Given the description of an element on the screen output the (x, y) to click on. 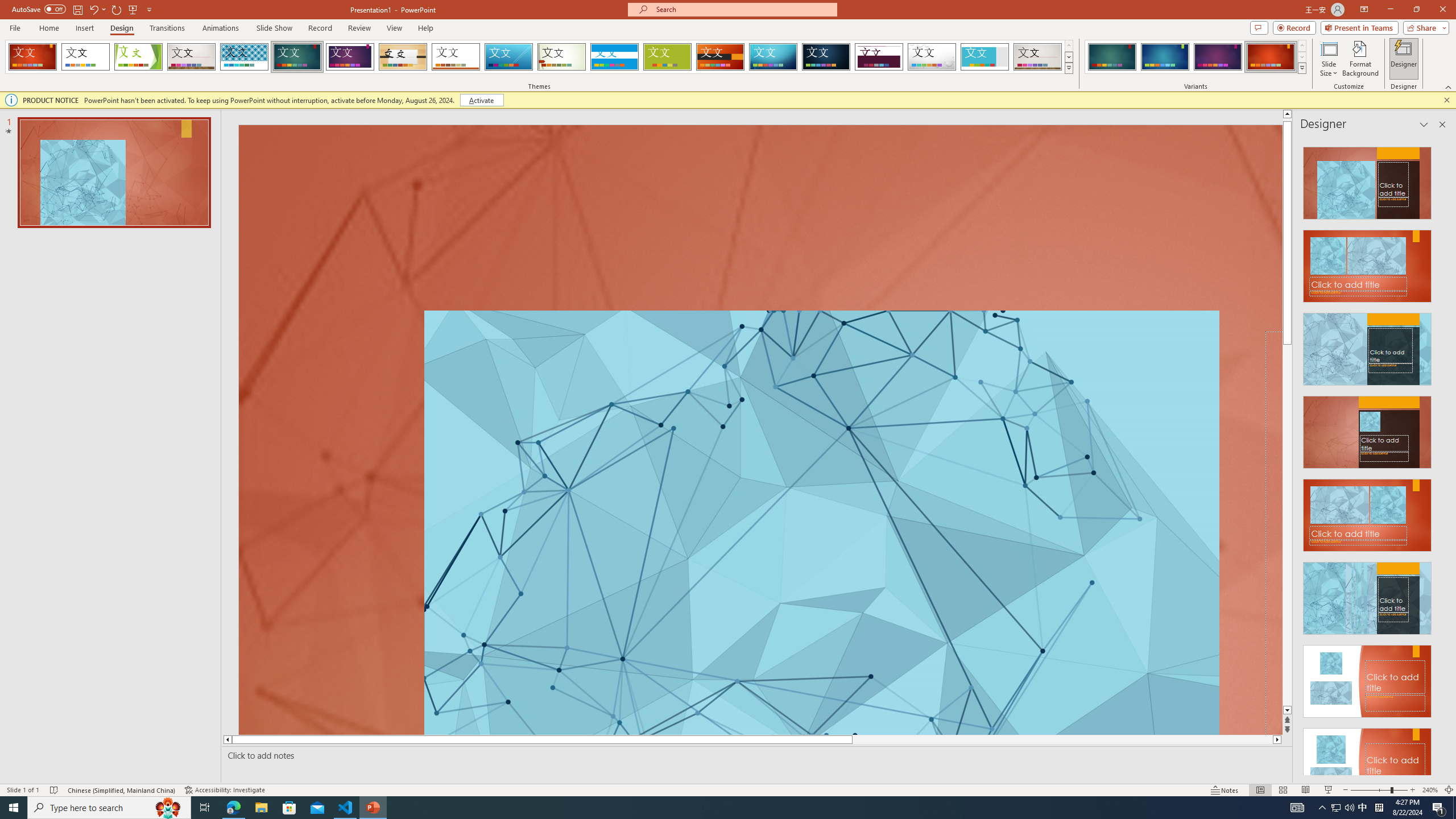
Organic (403, 56)
FadeVTI (32, 56)
Slice (508, 56)
Ion Variant 3 (1217, 56)
Basis (667, 56)
Ion Variant 1 (1112, 56)
Activate (481, 100)
Zoom 240% (1430, 790)
Facet (138, 56)
Frame (984, 56)
Office Theme (85, 56)
